Given the description of an element on the screen output the (x, y) to click on. 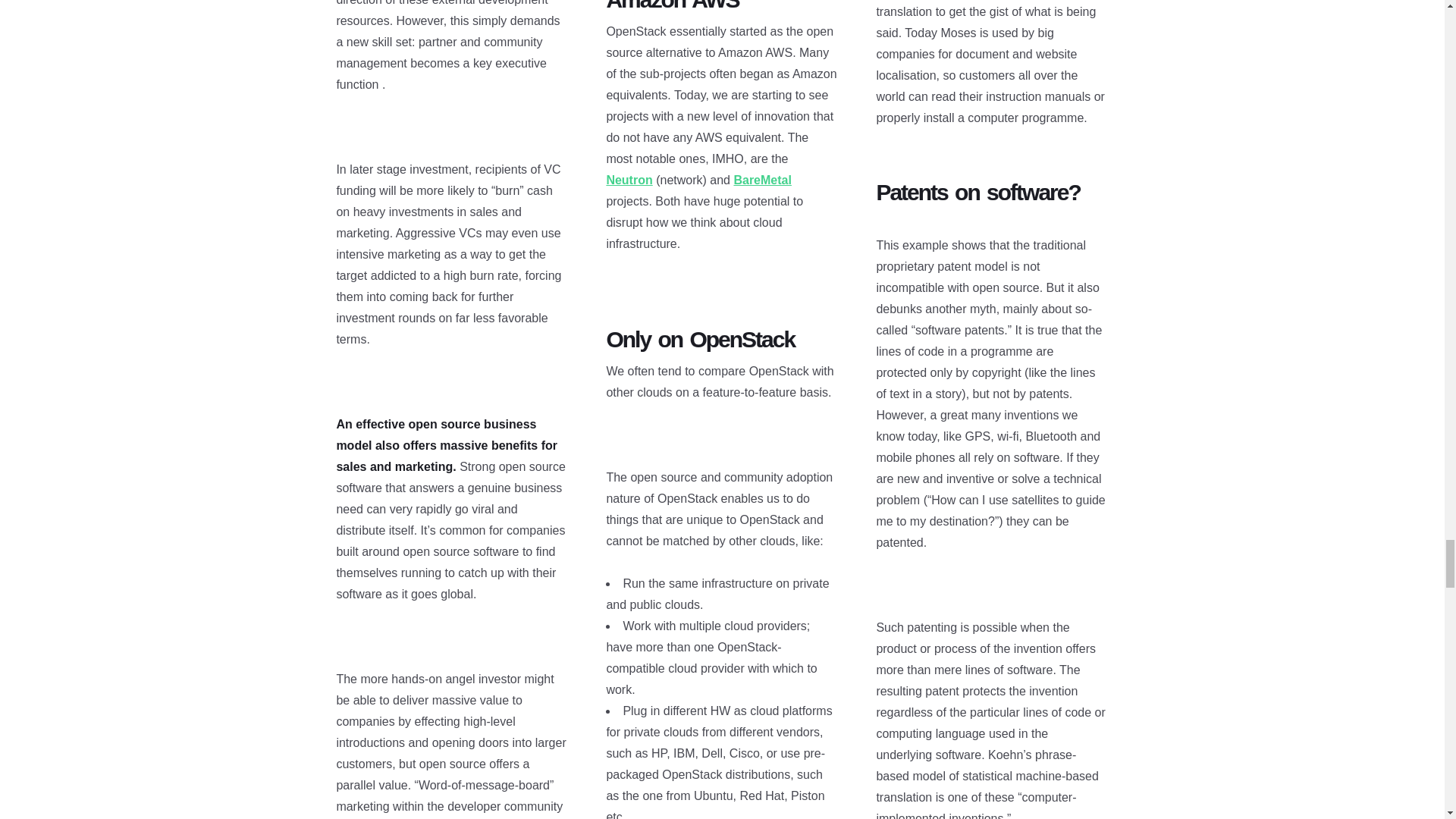
Neutron (628, 179)
